Given the description of an element on the screen output the (x, y) to click on. 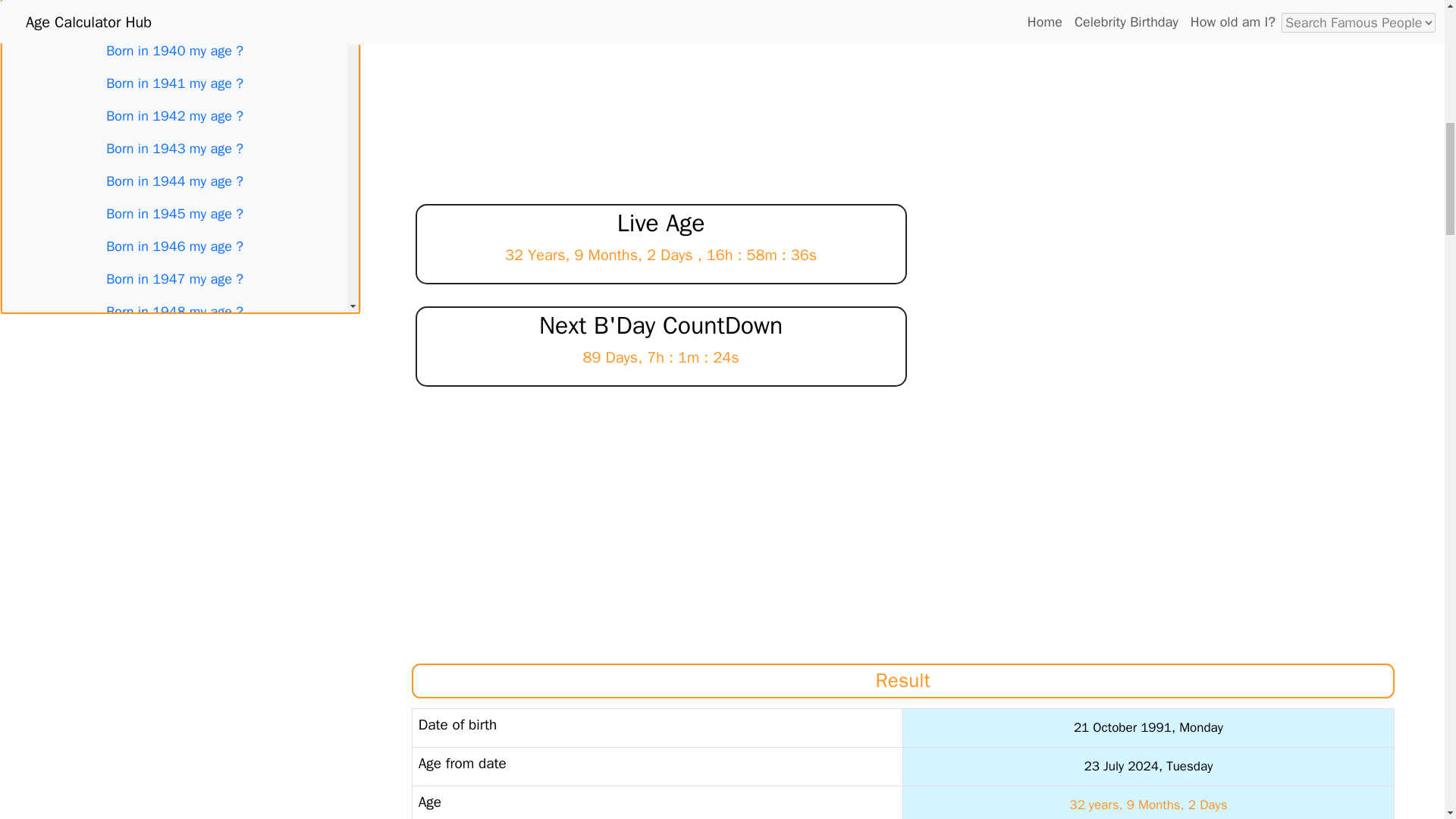
Born in 1942 my age ? (174, 115)
Born in 1953 my age ? (174, 474)
Born in 1941 my age ? (174, 83)
Born in 1956 my age ? (174, 572)
Born in 1947 my age ? (174, 278)
Born in 1952 my age ? (174, 441)
Born in 1944 my age ? (174, 181)
Born in 1939 my age ? (174, 18)
Born in 1955 my age ? (174, 540)
Born in 1954 my age ? (174, 507)
Born in 1946 my age ? (174, 246)
Born in 1958 my age ? (174, 637)
Born in 1940 my age ? (174, 51)
Born in 1943 my age ? (174, 148)
